Given the description of an element on the screen output the (x, y) to click on. 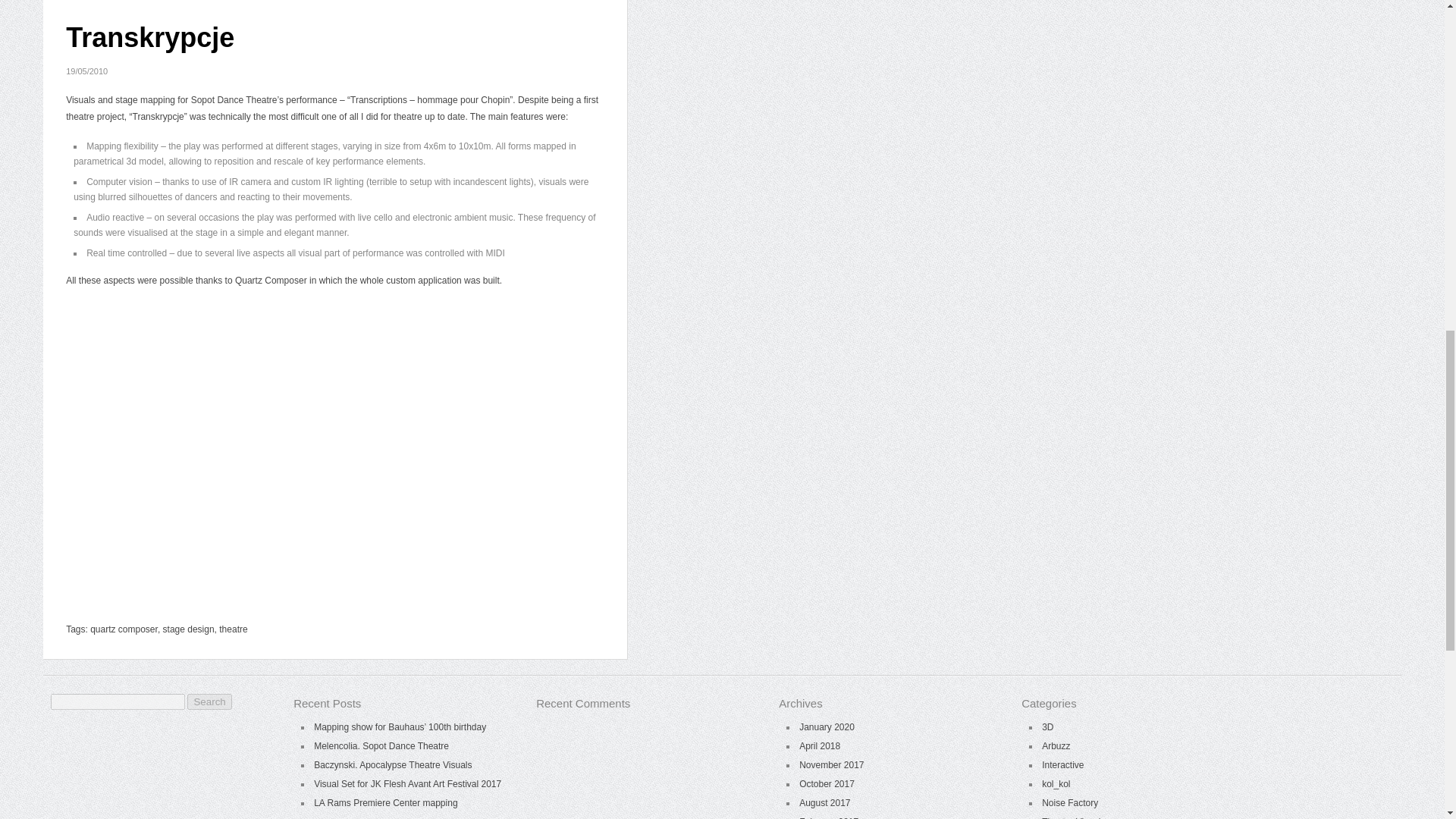
LA Rams Premiere Center mapping (385, 802)
February 2017 (829, 817)
quartz composer (123, 629)
October 2017 (826, 783)
January 2020 (826, 726)
stage design (188, 629)
Search (209, 701)
theatre (233, 629)
August 2017 (824, 802)
